Given the description of an element on the screen output the (x, y) to click on. 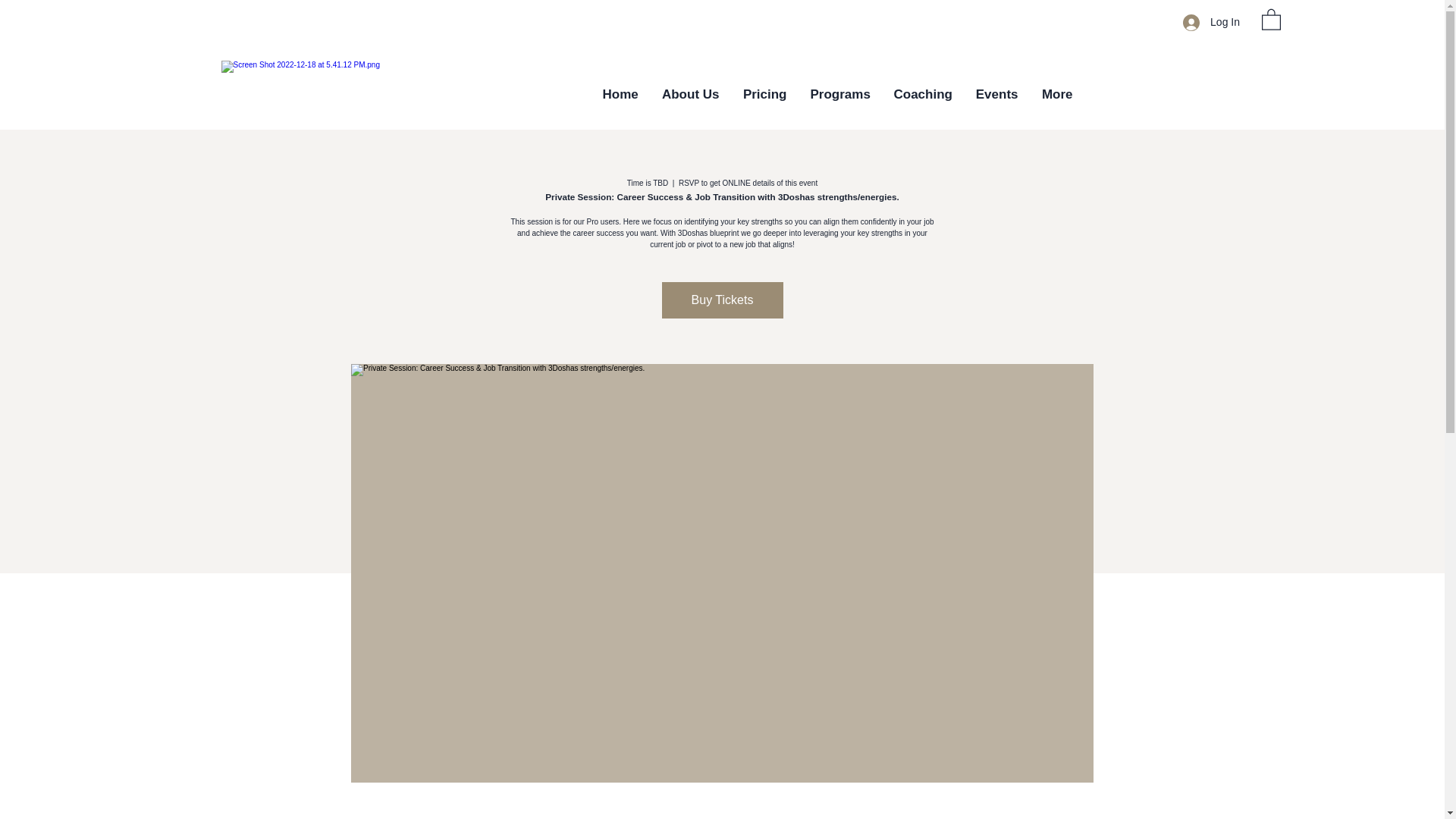
Pricing (763, 94)
Home (619, 94)
Events (995, 94)
Log In (1211, 22)
Coaching (921, 94)
Programs (838, 94)
About Us (689, 94)
Buy Tickets (722, 299)
